Given the description of an element on the screen output the (x, y) to click on. 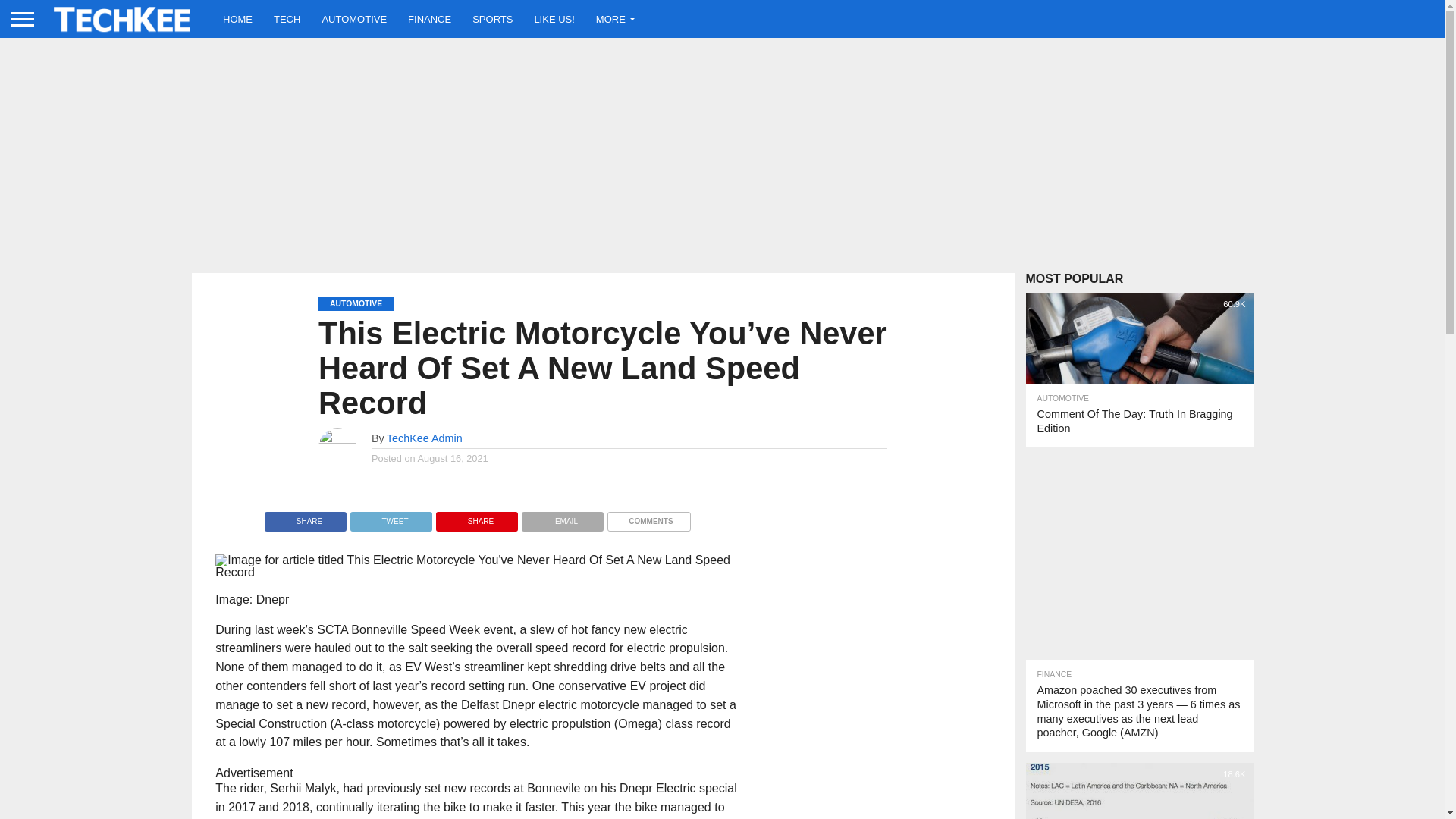
HOME (237, 18)
EMAIL (562, 517)
FINANCE (429, 18)
TechKee Admin (425, 438)
Share on Facebook (305, 517)
Advertisement (1138, 553)
LIKE US! (553, 18)
COMMENTS (648, 517)
SHARE (476, 517)
Tweet This Post (390, 517)
